Given the description of an element on the screen output the (x, y) to click on. 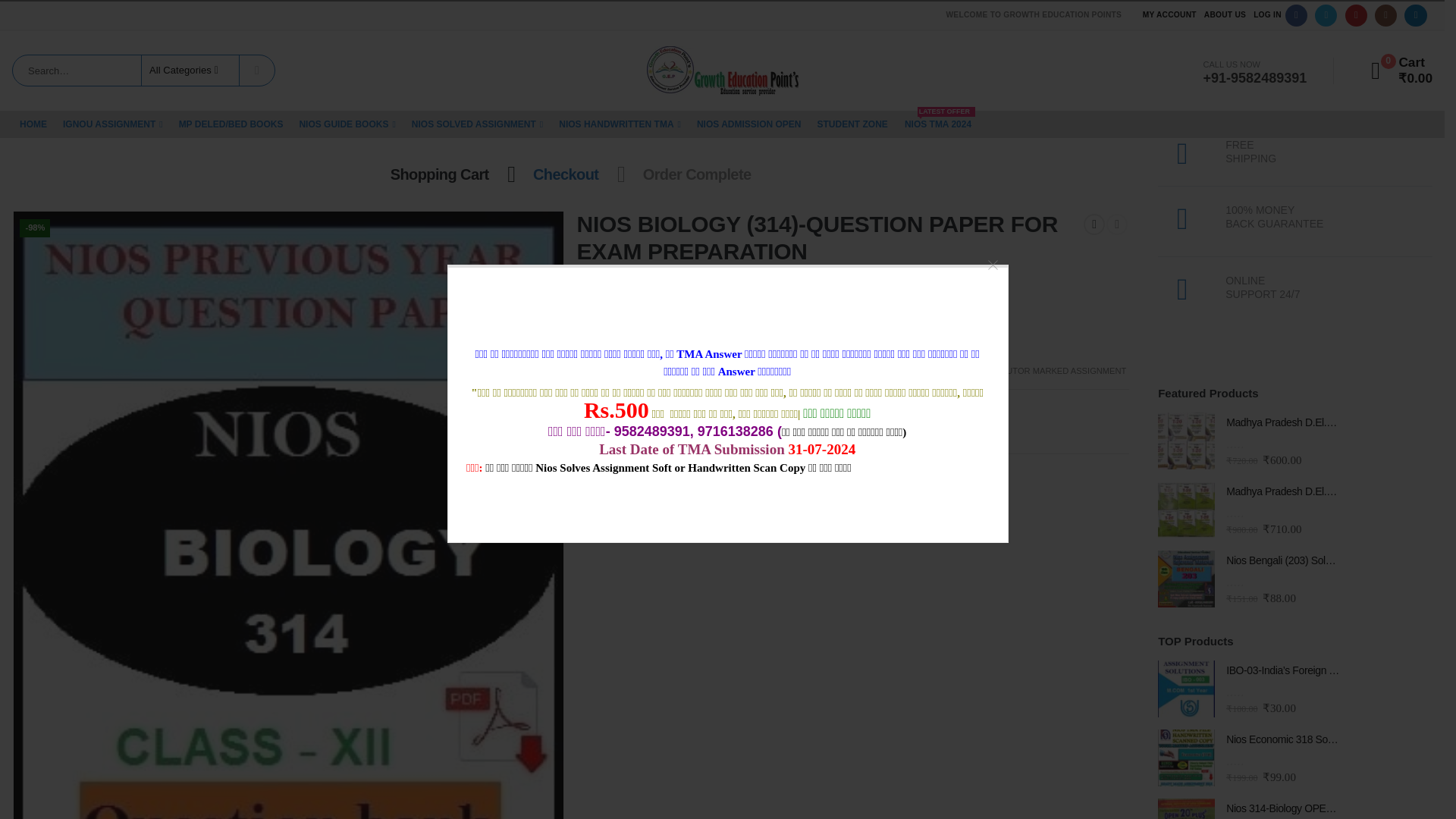
Search (257, 70)
NIOS GUIDE BOOKS (347, 124)
MY ACCOUNT (1168, 14)
Facebook (1296, 15)
Instagram (1385, 15)
Close (987, 258)
LOG IN (1267, 14)
IGNOU ASSIGNMENT (112, 124)
Twitter (1325, 15)
Youtube (1356, 15)
ABOUT US (1224, 14)
LinkedIn (1415, 15)
HOME (33, 124)
